Given the description of an element on the screen output the (x, y) to click on. 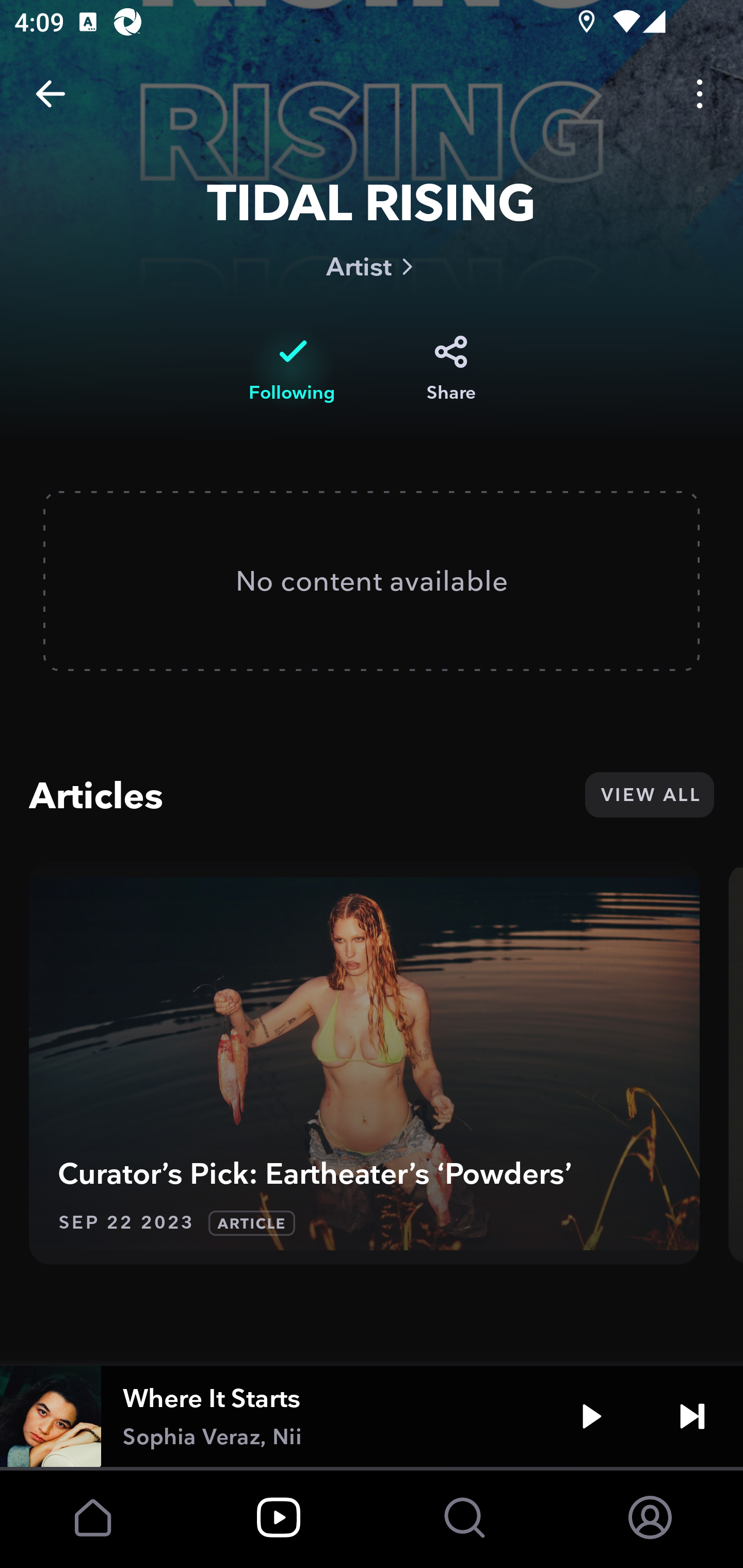
Options (699, 93)
Artist (371, 266)
Following (291, 368)
Share (450, 368)
VIEW ALL (649, 793)
Curator’s Pick: Eartheater’s ‘Powders’ SEP 22 2023 (363, 1063)
Where It Starts Sophia Veraz, Nii Play (371, 1416)
Play (590, 1416)
